Given the description of an element on the screen output the (x, y) to click on. 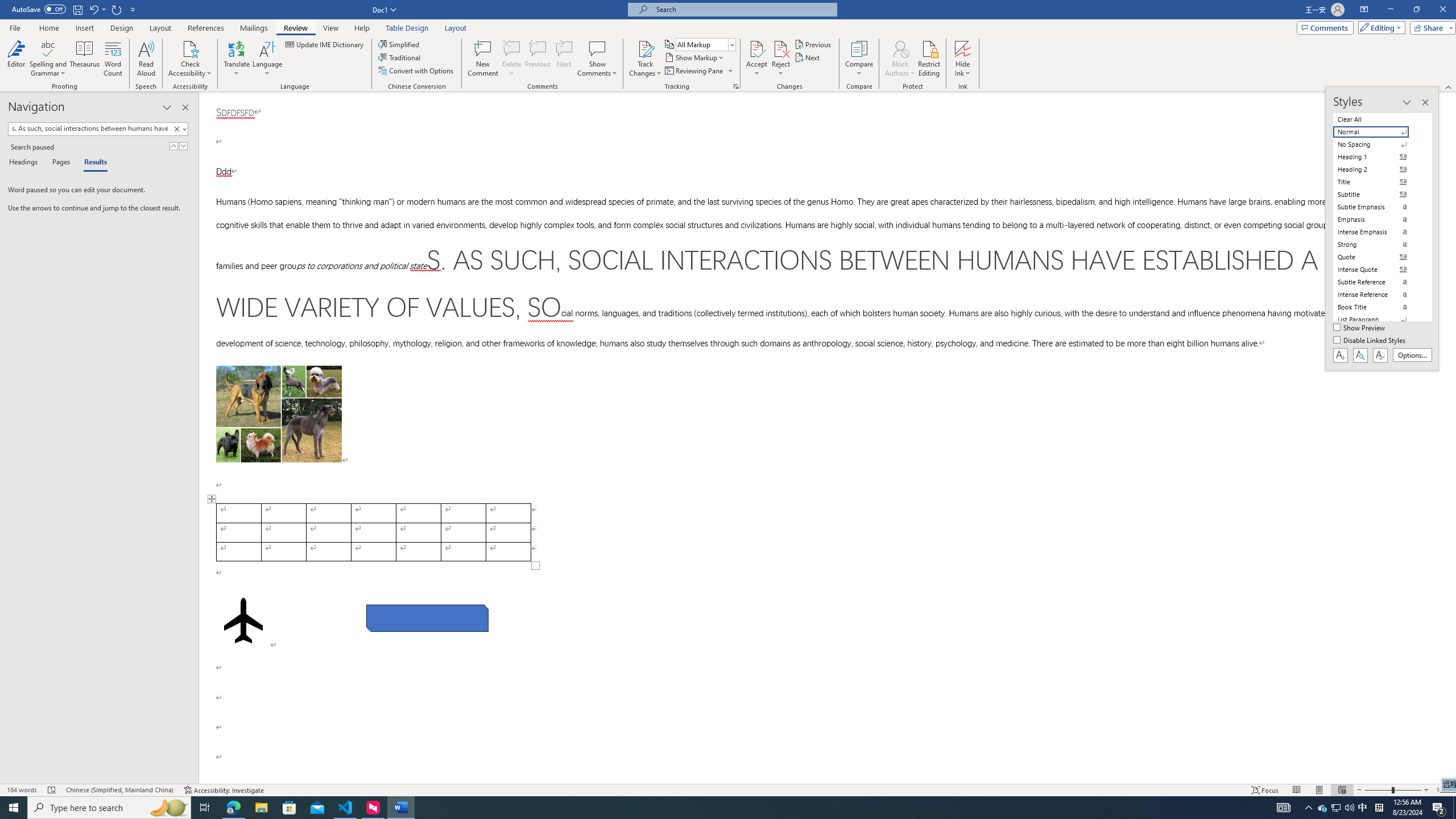
Subtle Emphasis (1377, 206)
Normal (1377, 131)
Convert with Options... (417, 69)
Track Changes (644, 58)
Intense Reference (1377, 294)
Block Authors (900, 58)
Undo Style (92, 9)
Next (808, 56)
Block Authors (900, 48)
Track Changes (644, 48)
